Given the description of an element on the screen output the (x, y) to click on. 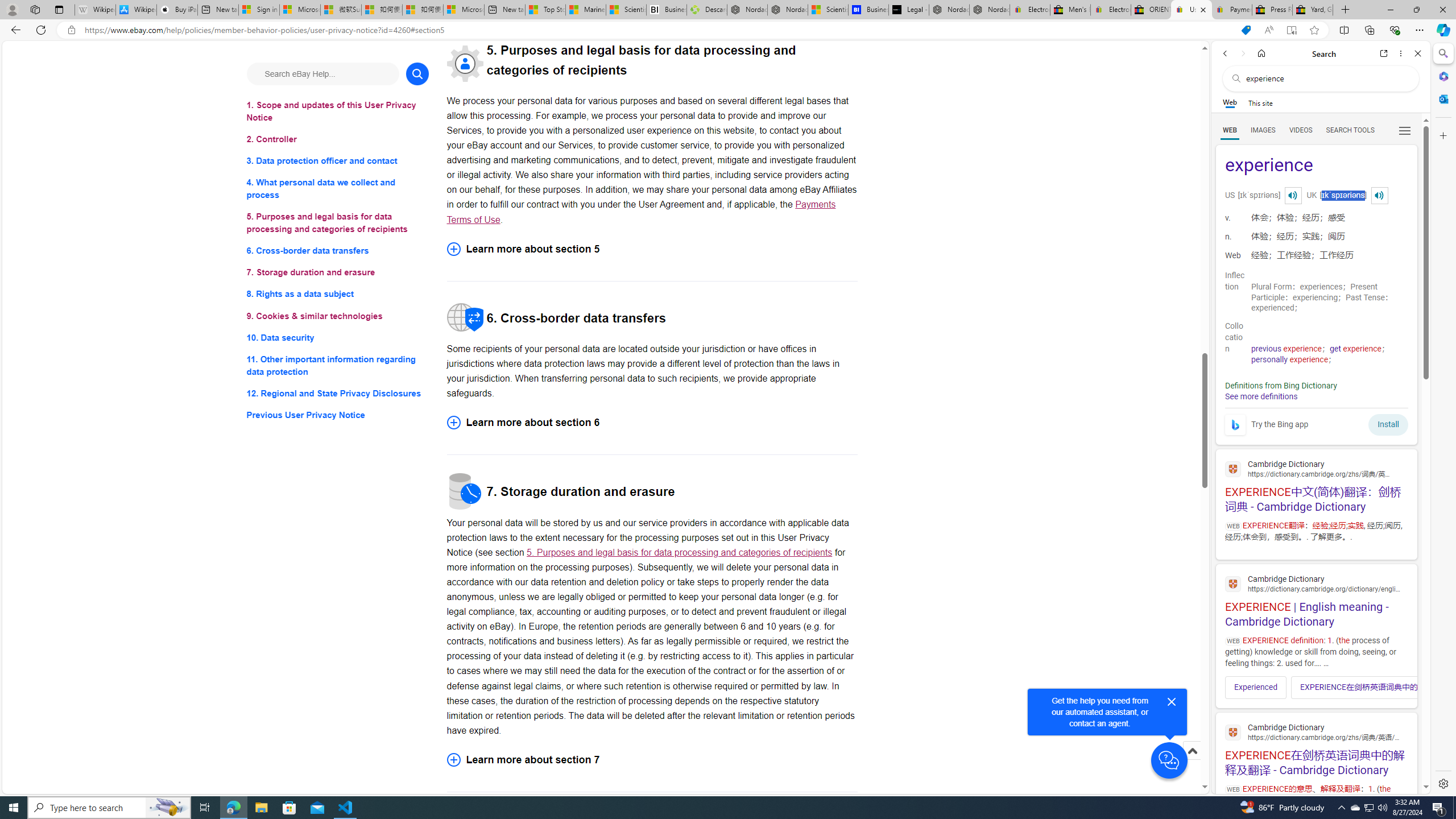
Wikipedia - Sleeping (94, 9)
SEARCH TOOLS (1350, 130)
12. Regional and State Privacy Disclosures (337, 392)
8. Rights as a data subject (337, 293)
Class: dict_pnIcon rms_img (1379, 194)
See more definitions (1260, 396)
1. Scope and updates of this User Privacy Notice (337, 111)
Sign in to your Microsoft account (258, 9)
